Given the description of an element on the screen output the (x, y) to click on. 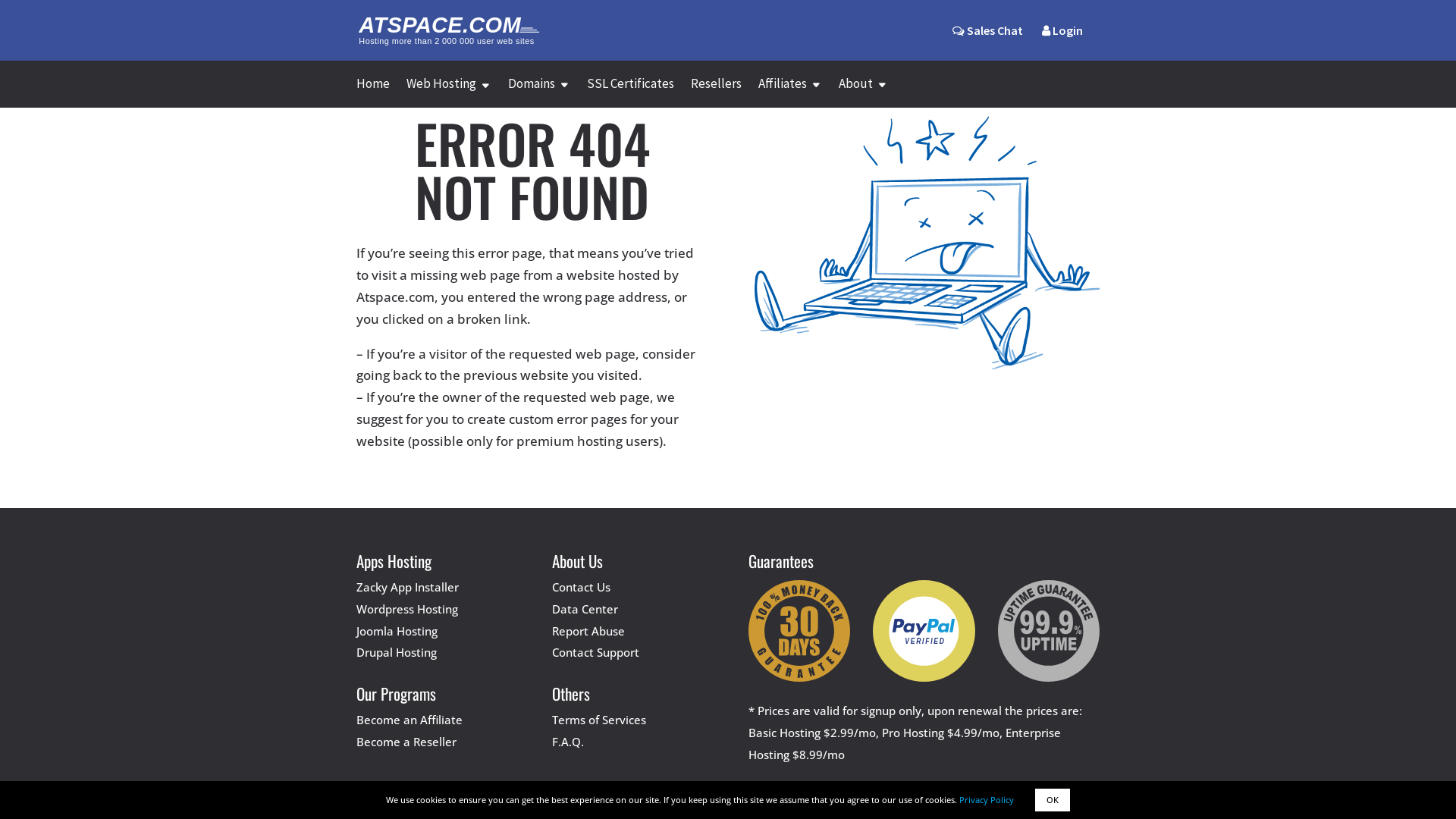
About Element type: text (863, 92)
Terms of Services Element type: text (599, 719)
AttractSoft GmbH Element type: text (683, 791)
Drupal Hosting Element type: text (396, 651)
Report Abuse Element type: text (588, 630)
Web Hosting Element type: text (448, 92)
Contact Us Element type: text (581, 586)
Become an Affiliate Element type: text (409, 719)
Zetta Hosting Solutions ltd Element type: text (826, 791)
Privacy Policy Element type: text (986, 799)
OK Element type: text (1052, 799)
Affiliates Element type: text (790, 92)
Joomla Hosting Element type: text (396, 630)
Sales Chat Element type: text (987, 42)
Sales Chat Element type: text (987, 29)
Data Center Element type: text (585, 608)
Become a Reseller Element type: text (406, 741)
Domains Element type: text (539, 92)
F.A.Q. Element type: text (567, 741)
SSL Certificates Element type: text (630, 92)
Zacky App Installer Element type: text (407, 586)
Contact Support Element type: text (595, 651)
Login Element type: text (1061, 42)
Wordpress Hosting Element type: text (407, 608)
Home Element type: text (372, 92)
Resellers Element type: text (715, 92)
